Given the description of an element on the screen output the (x, y) to click on. 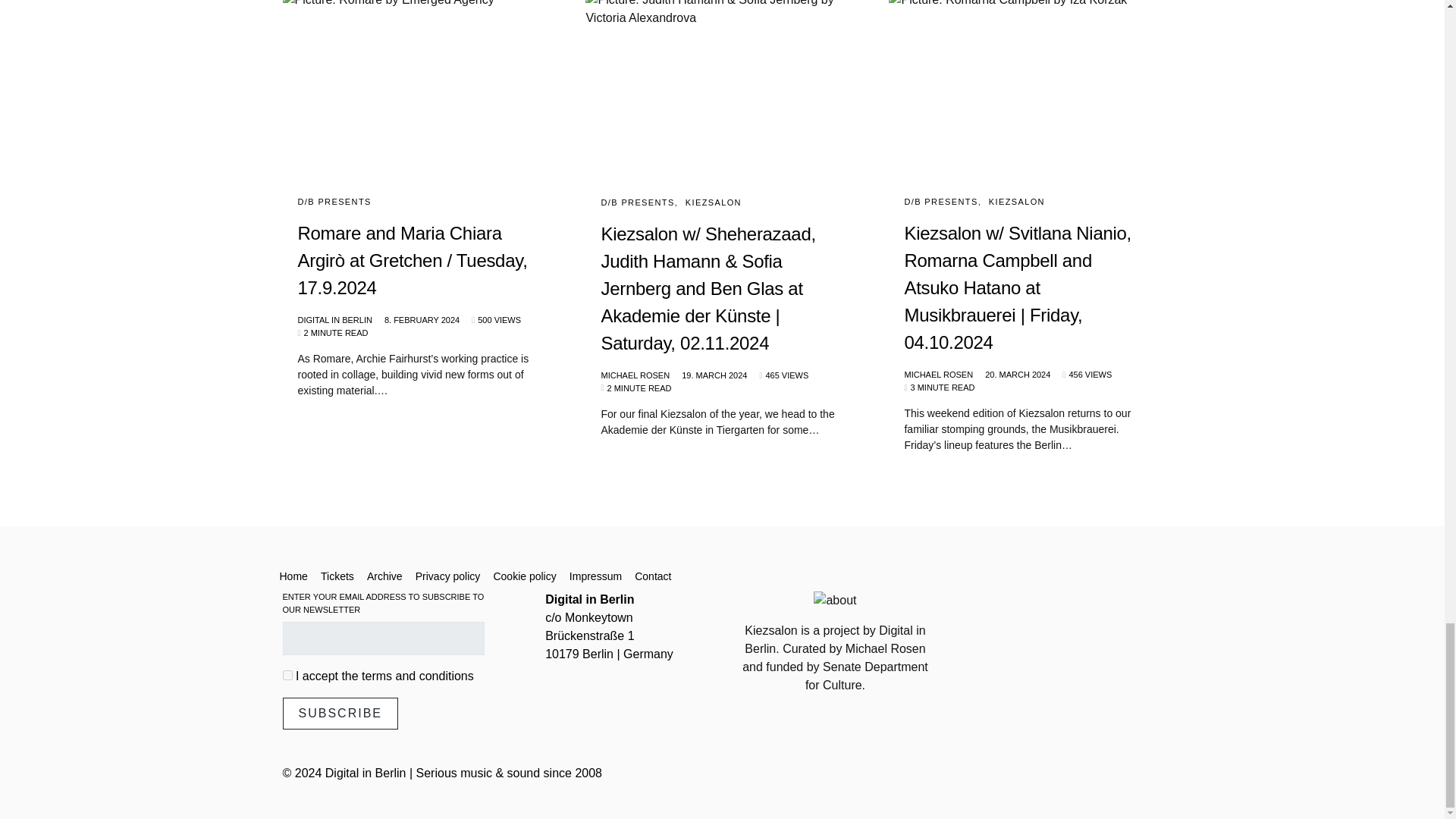
Subscribe (339, 713)
on (287, 675)
View all posts by Digital in Berlin (334, 319)
